Given the description of an element on the screen output the (x, y) to click on. 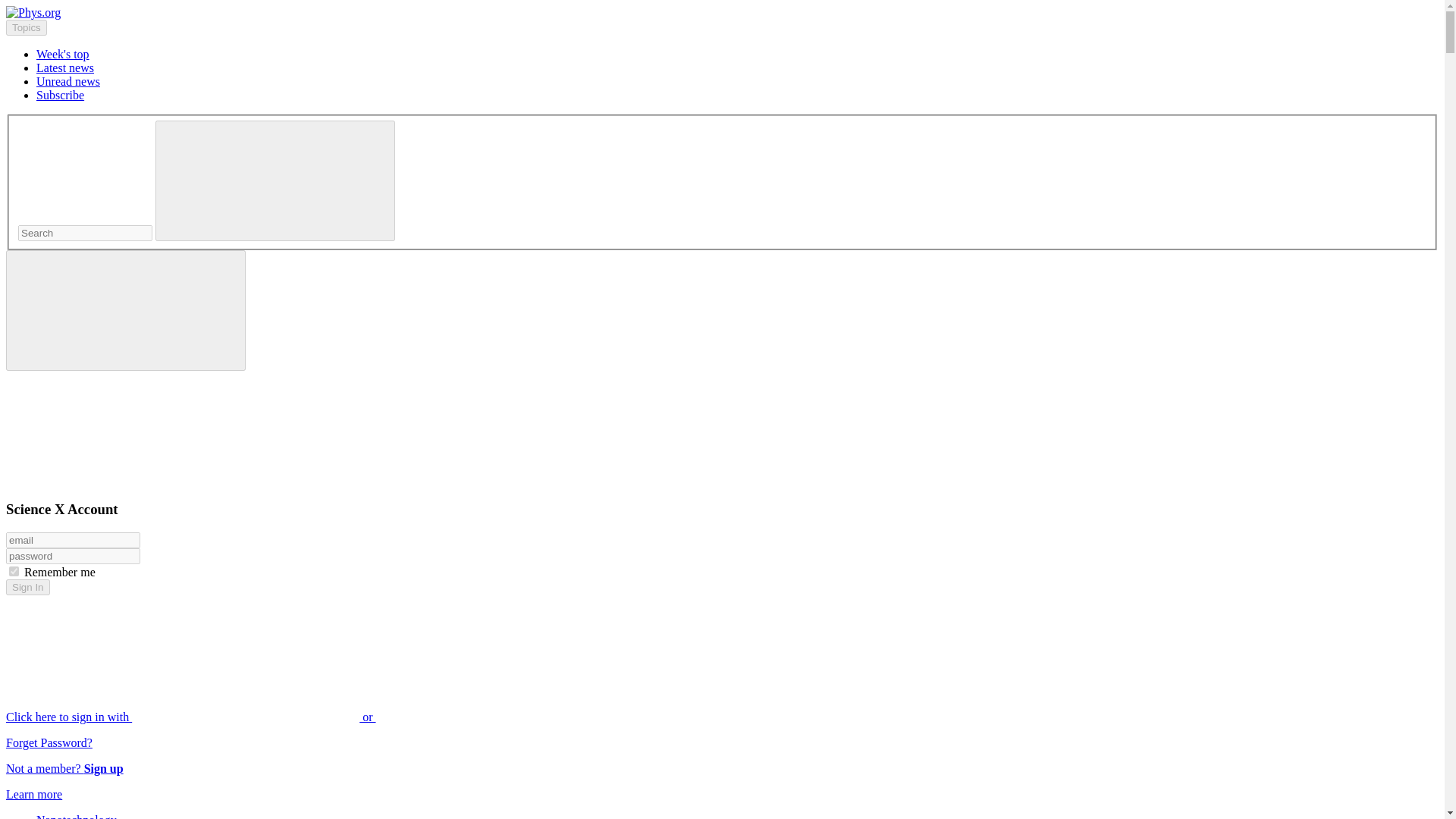
Week's top (62, 53)
Sign In (27, 587)
Latest news (65, 67)
Learn more (33, 793)
Forget Password? (49, 742)
on (13, 571)
Click here to sign in with or (304, 716)
Subscribe (60, 94)
Unread news (68, 81)
Topics (25, 27)
